Given the description of an element on the screen output the (x, y) to click on. 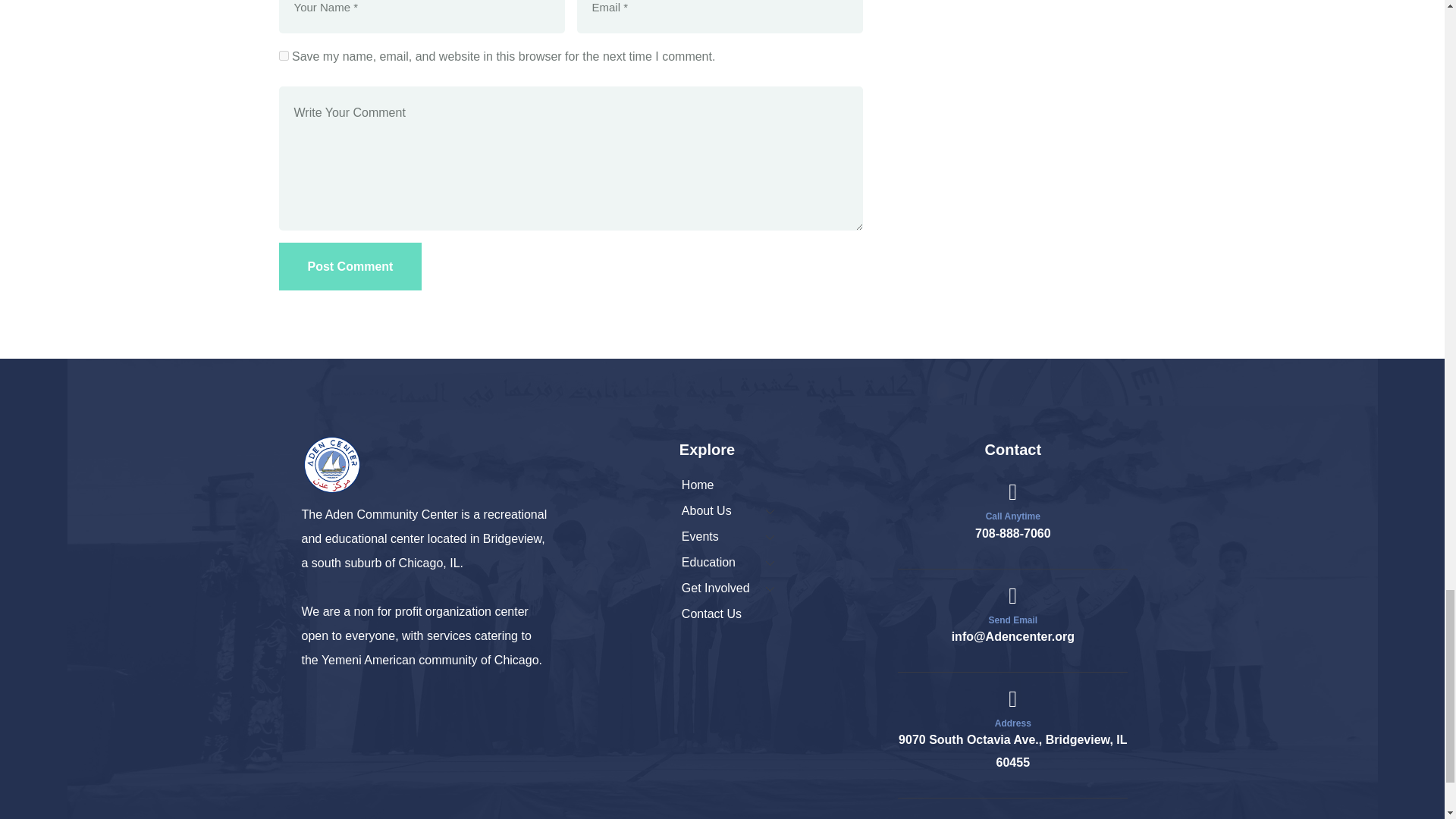
Post Comment (350, 266)
yes (283, 55)
Home (331, 464)
